Given the description of an element on the screen output the (x, y) to click on. 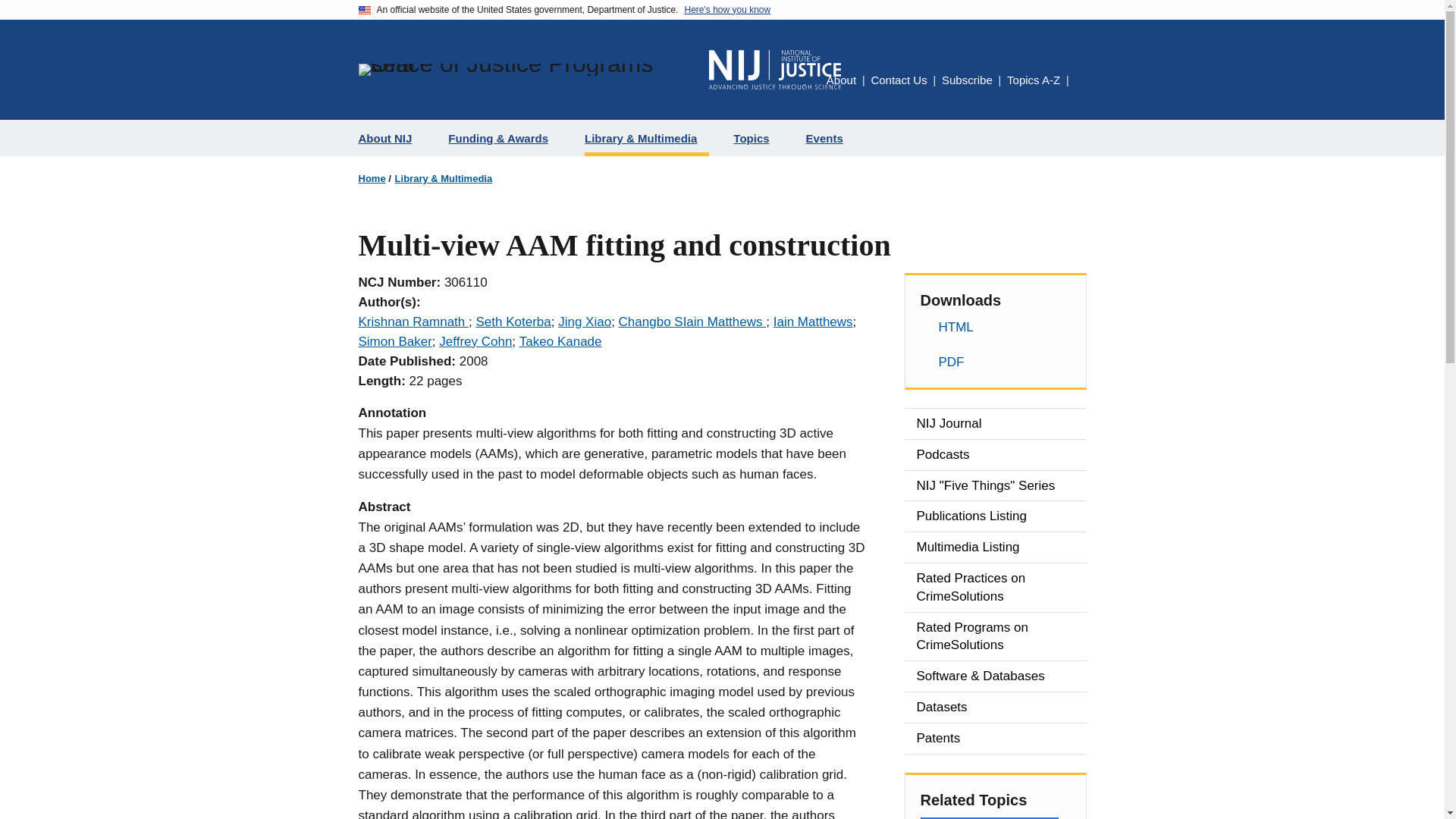
Jing Xiao (584, 321)
Simon Baker (394, 341)
Podcasts (995, 454)
PDF (995, 362)
Office of Justice Programs (526, 69)
Topics (756, 138)
Jeffrey Cohn (475, 341)
Iain Matthews (813, 321)
Contact Us (898, 79)
Subscribe (967, 79)
Home (775, 69)
Events (830, 138)
Publications Listing (995, 516)
NIJ "Five Things" Series (995, 485)
HTML (995, 327)
